Given the description of an element on the screen output the (x, y) to click on. 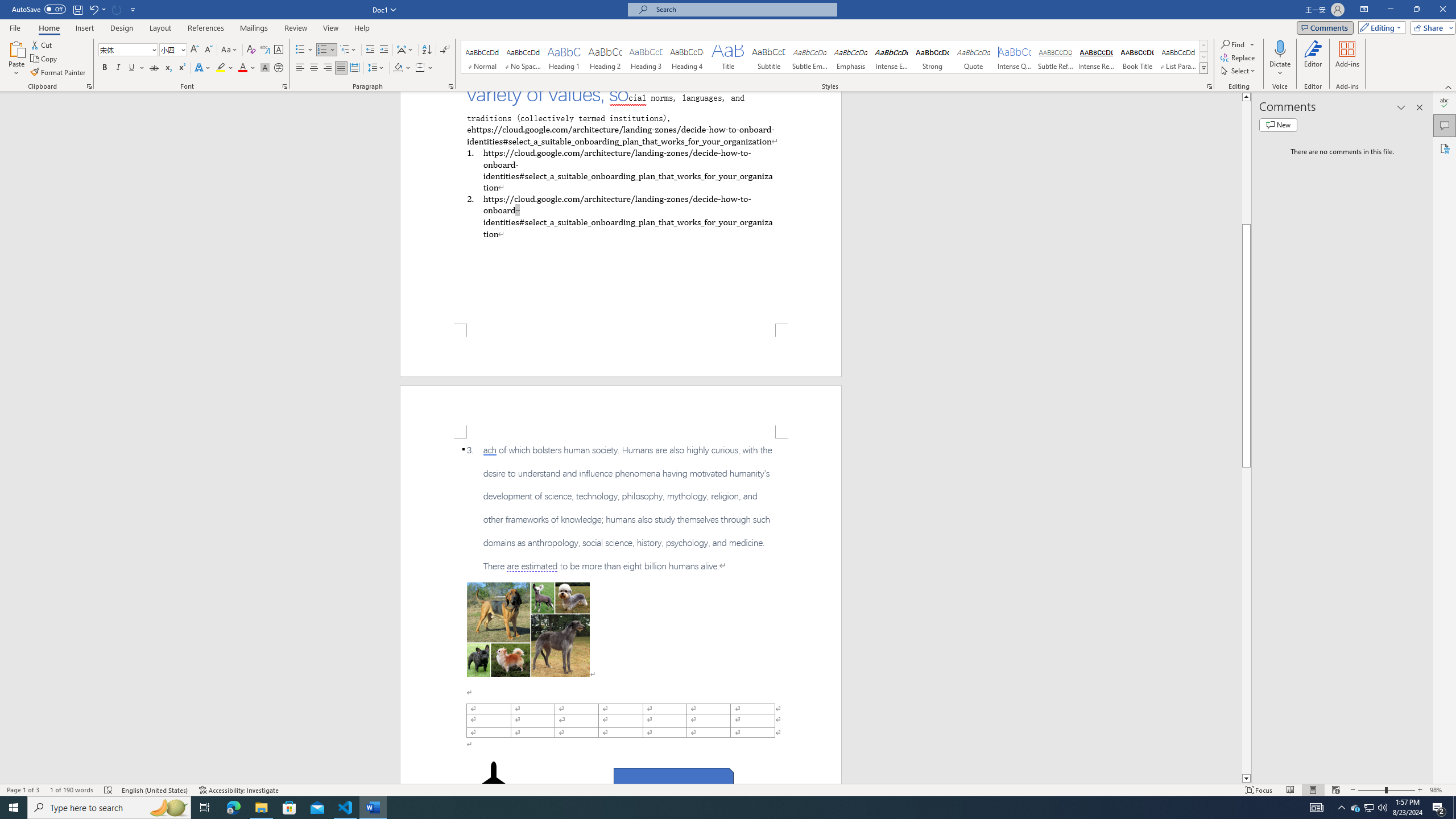
Asian Layout (405, 49)
Styles (1203, 67)
Strong (932, 56)
Rectangle: Diagonal Corners Snipped 2 (672, 781)
Intense Quote (1014, 56)
Grow Font (193, 49)
Heading 4 (686, 56)
Page 1 content (620, 207)
